Given the description of an element on the screen output the (x, y) to click on. 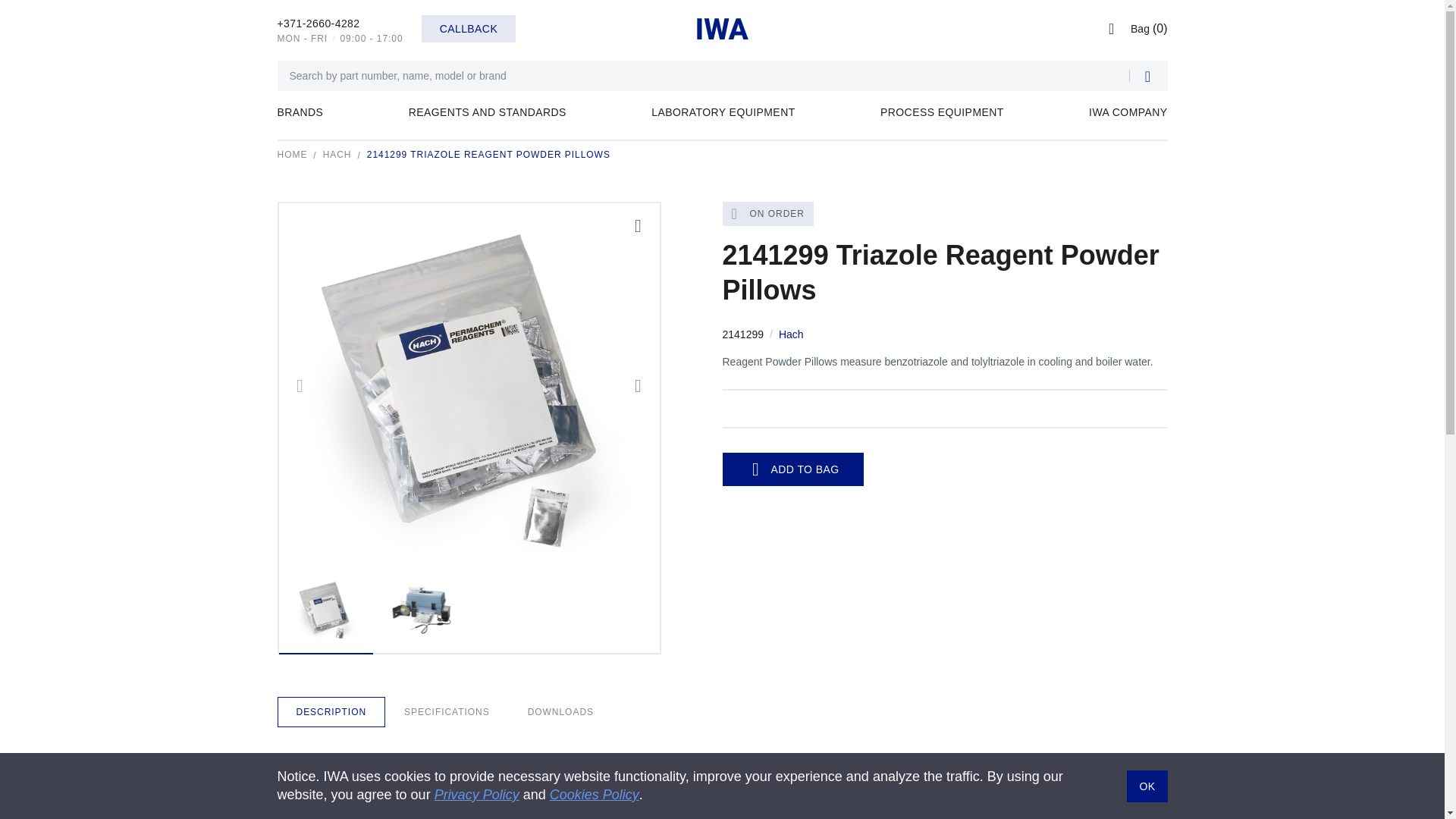
REAGENTS AND STANDARDS (487, 123)
BRANDS (300, 123)
CALLBACK (469, 28)
